Given the description of an element on the screen output the (x, y) to click on. 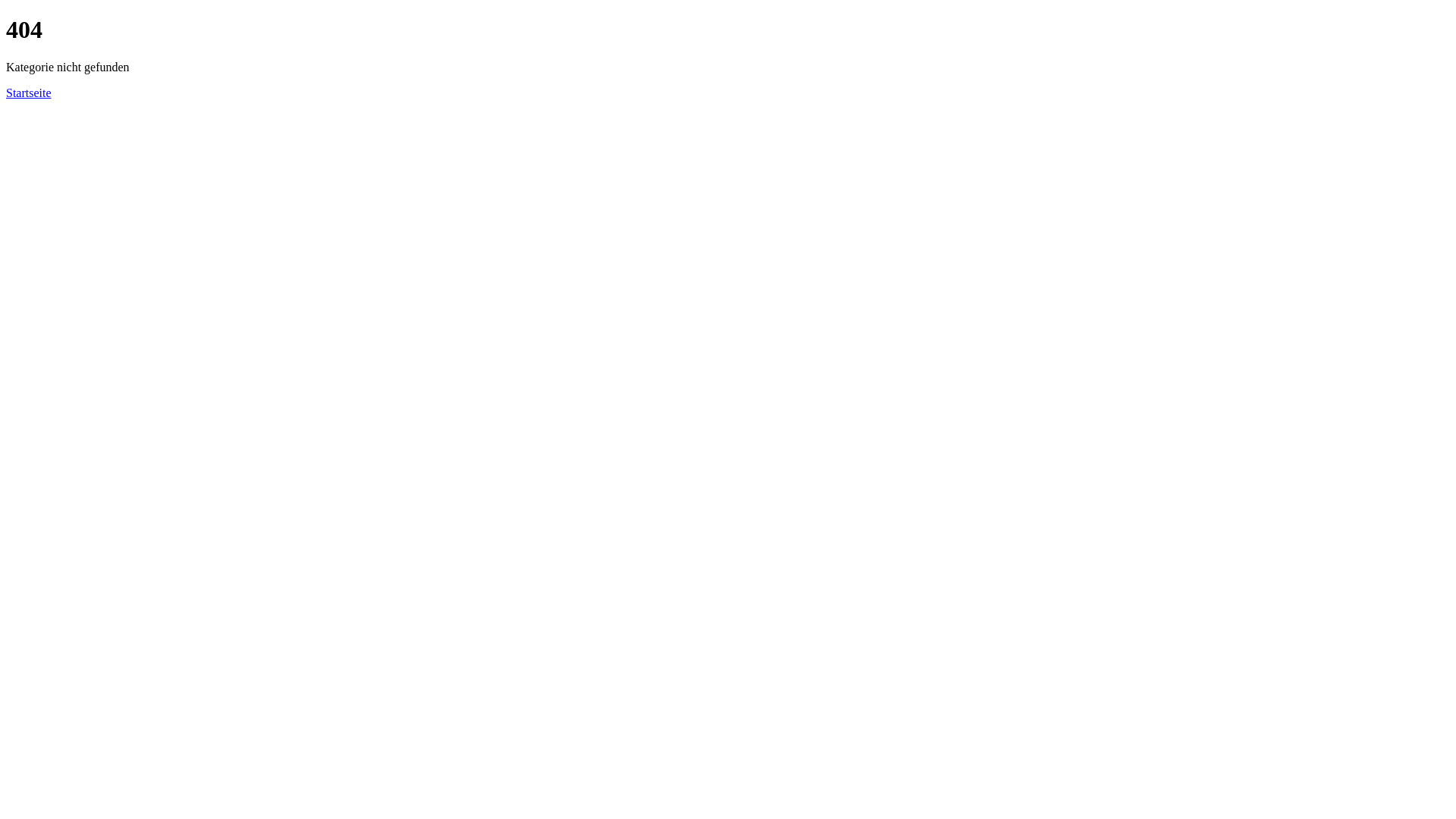
Startseite Element type: text (28, 92)
